Given the description of an element on the screen output the (x, y) to click on. 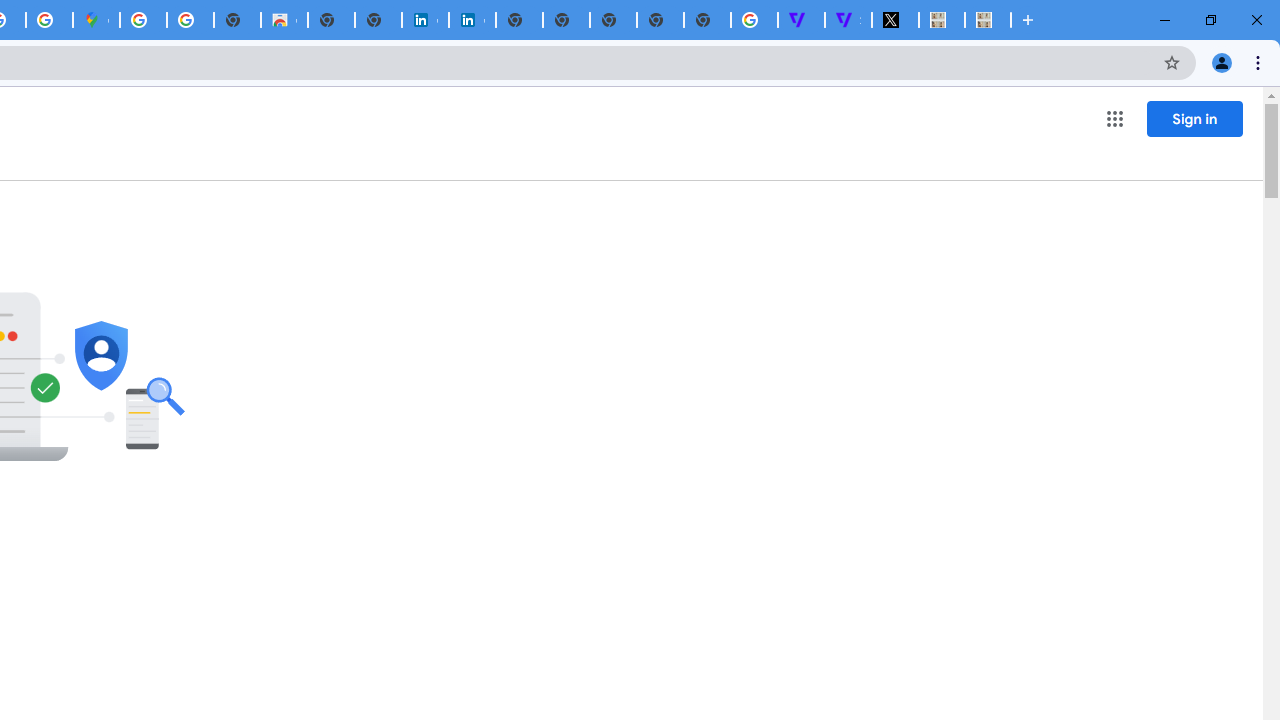
Google Maps (96, 20)
Streaming - The Verge (848, 20)
MILEY CYRUS. (988, 20)
